Given the description of an element on the screen output the (x, y) to click on. 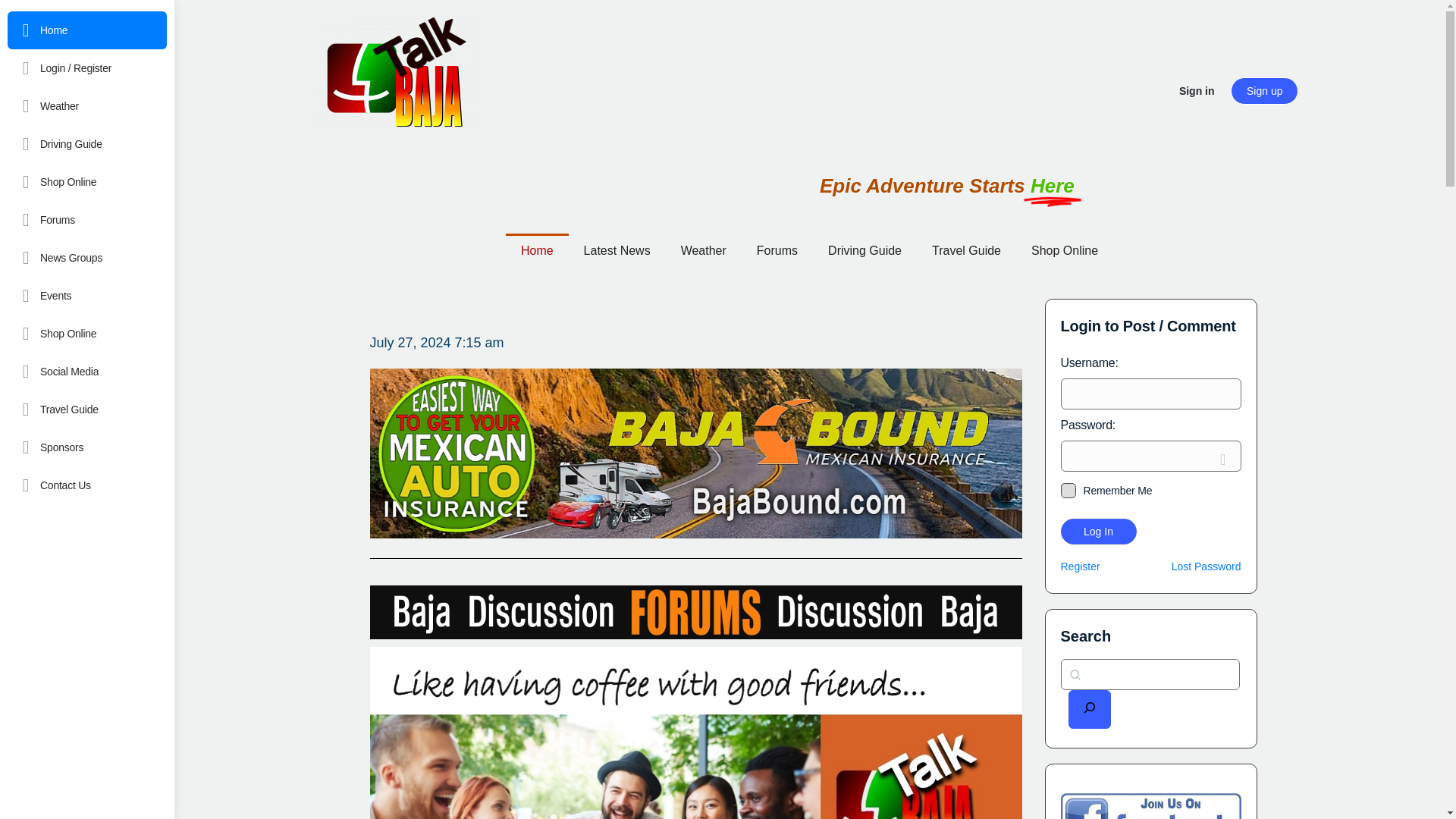
Shop Online (87, 333)
Weather (87, 105)
Sign up (1264, 90)
Lost Password (1206, 566)
Driving Guide (87, 143)
Home (87, 30)
Register (1079, 566)
Travel Guide (87, 409)
Shop Online (87, 181)
Sign in (1197, 90)
Forums (87, 219)
Social Media (87, 371)
cropped-Facebook-Icon-2.png (396, 71)
News Groups (87, 257)
Sponsors (87, 447)
